Given the description of an element on the screen output the (x, y) to click on. 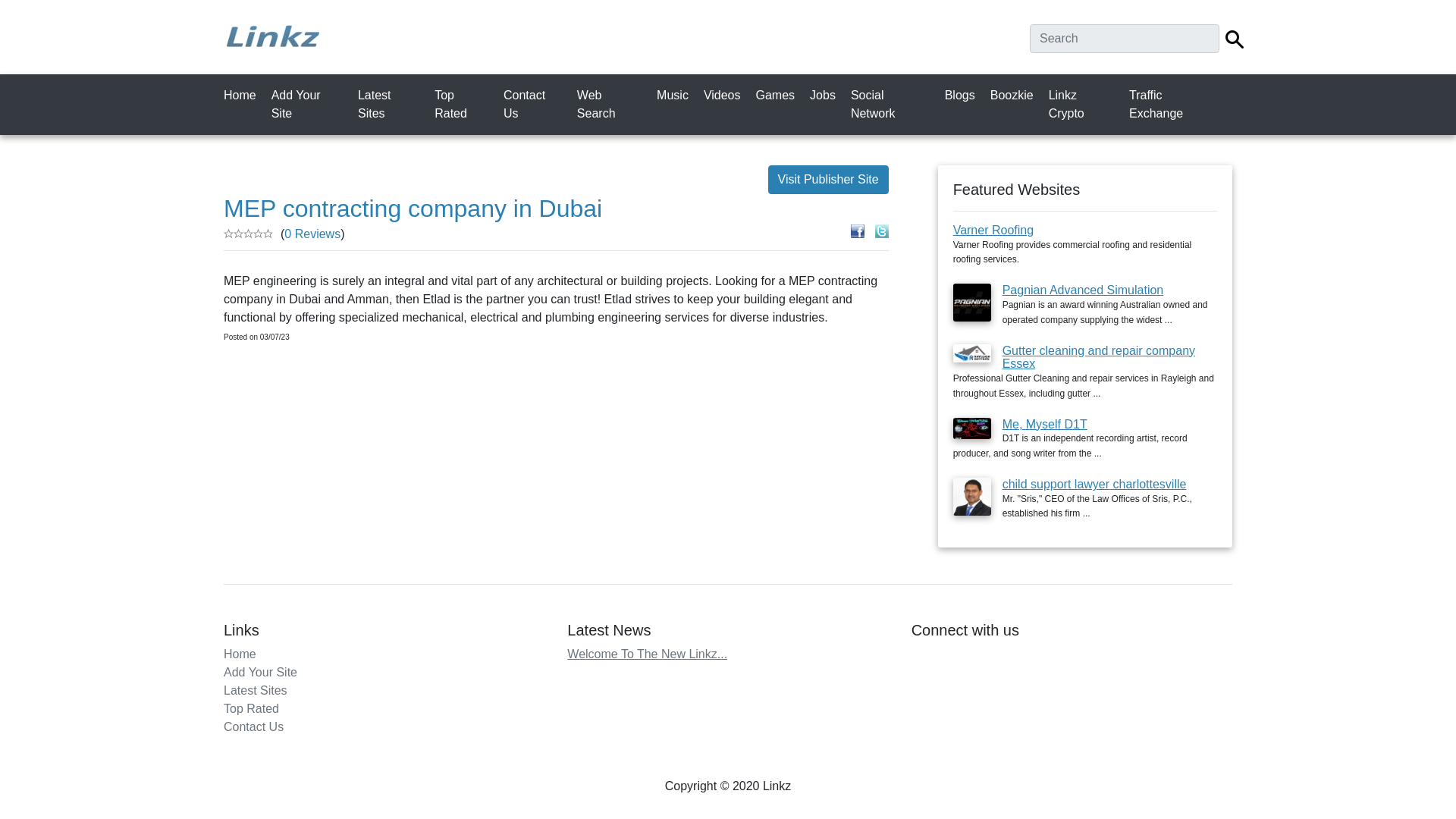
child support lawyer charlottesville (1094, 483)
Social Network (893, 104)
Add Your Site (260, 671)
Me, Myself D1T (1045, 423)
Home (240, 653)
Contact Us (253, 726)
Blogs (962, 95)
Videos (724, 95)
Music (675, 95)
Home (243, 95)
Welcome To The New Linkz... (646, 653)
Contact Us (535, 104)
Games (778, 95)
Pagnian Advanced Simulation (1083, 289)
Latest Sites (255, 689)
